Given the description of an element on the screen output the (x, y) to click on. 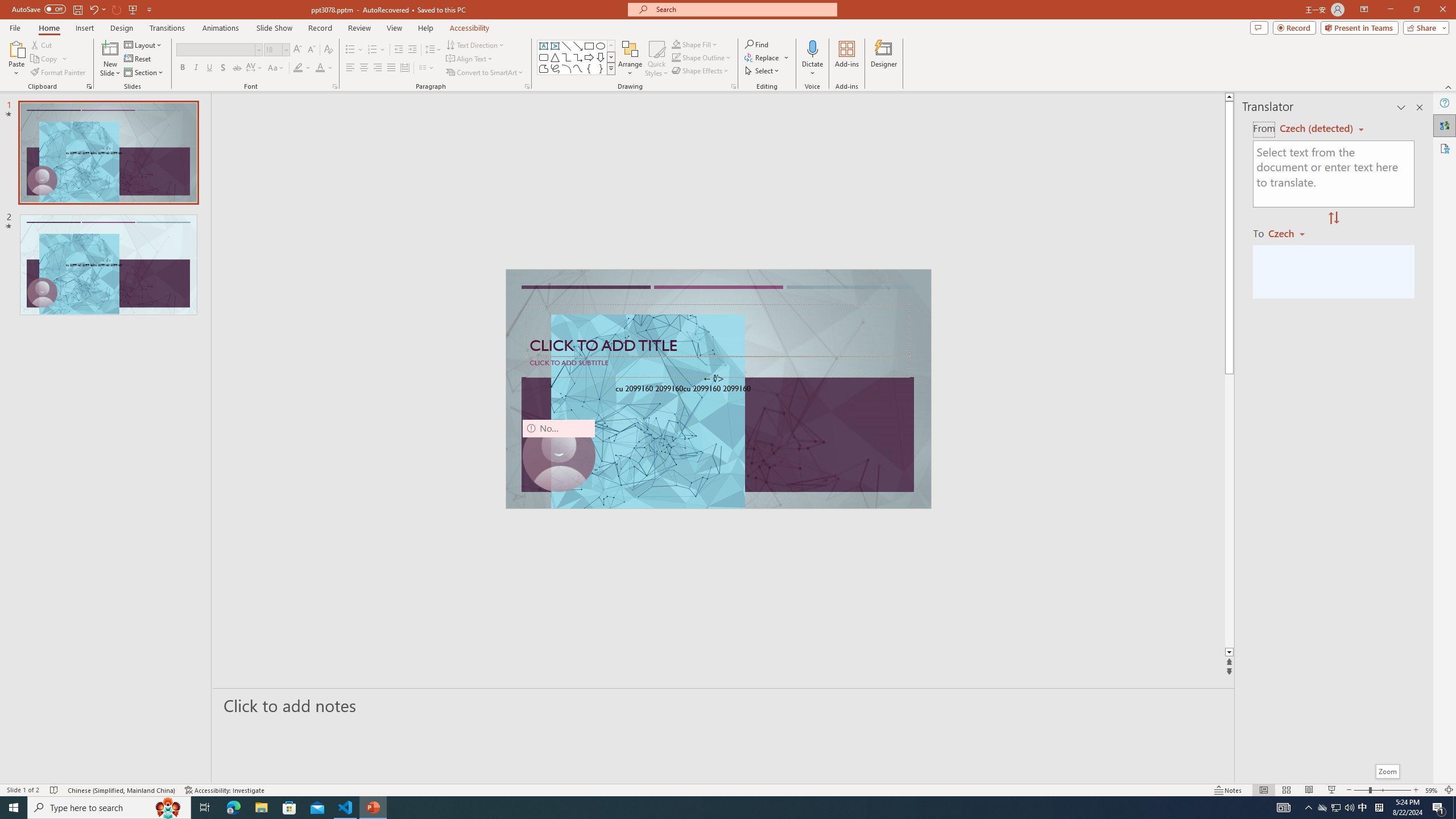
Subtitle TextBox (717, 366)
TextBox 7 (713, 378)
